Given the description of an element on the screen output the (x, y) to click on. 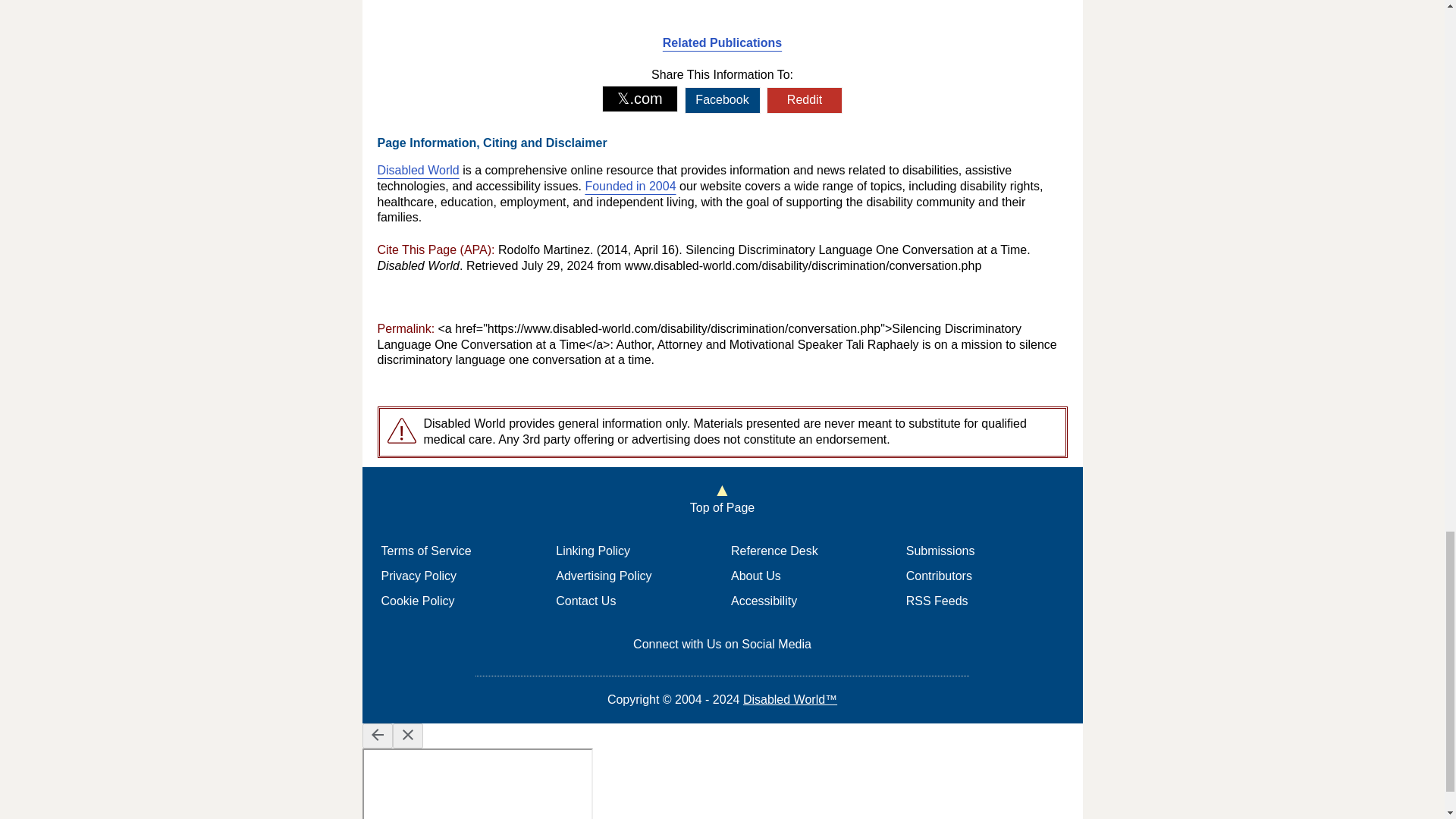
Disabled World (418, 169)
Privacy Policy (418, 575)
Linking Policy (593, 550)
Founded in 2004 (630, 185)
Contact Us (585, 600)
Share on X (640, 98)
Cookie Policy (417, 600)
Terms of Service (425, 550)
Advertising Policy (603, 575)
